Given the description of an element on the screen output the (x, y) to click on. 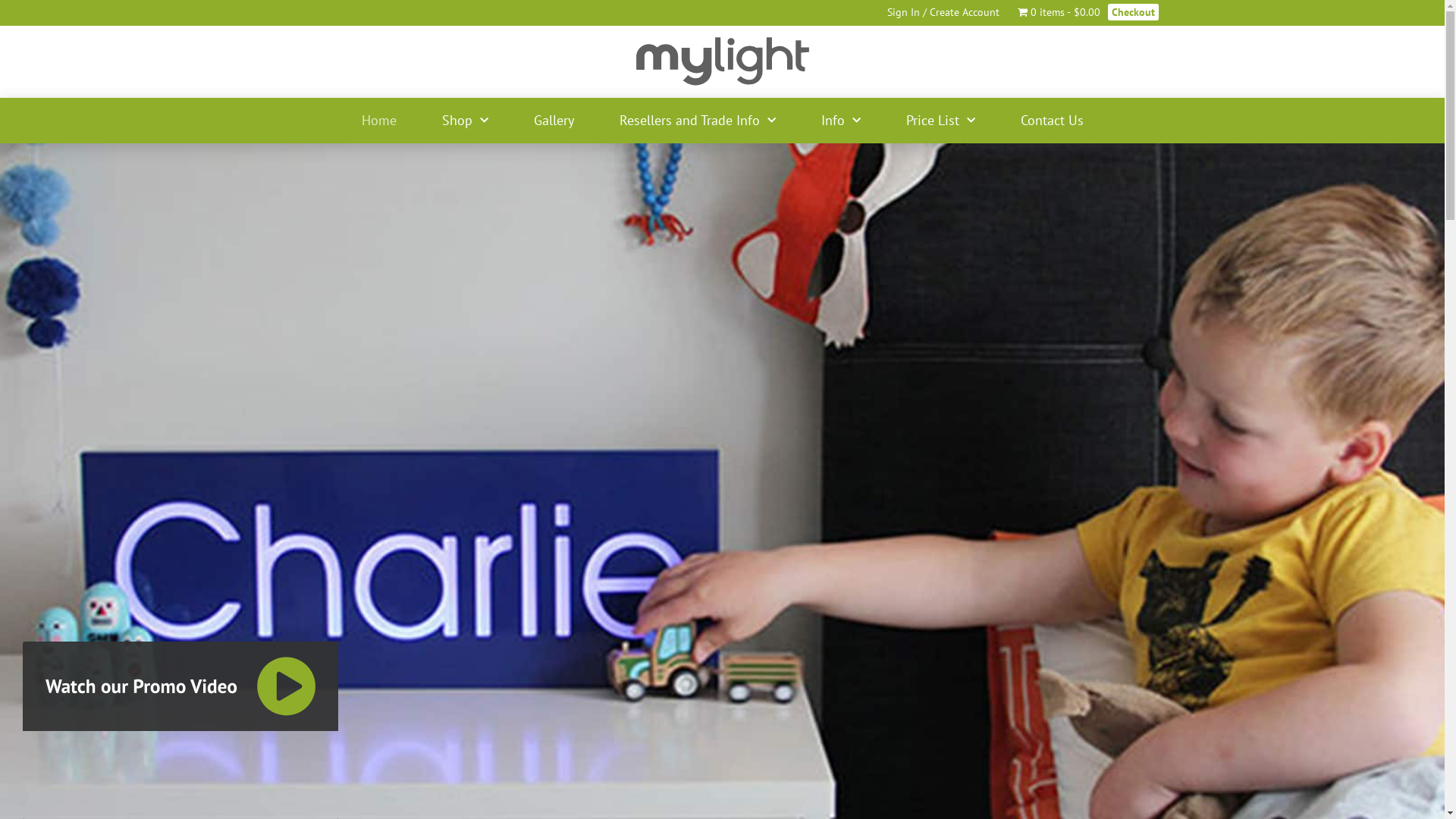
Gallery Element type: text (553, 120)
Price List Element type: text (939, 120)
Contact Us Element type: text (1051, 120)
Sign In / Create Account Element type: text (943, 11)
Resellers and Trade Info Element type: text (696, 120)
Checkout Element type: text (1132, 11)
Shop Element type: text (464, 120)
Home Element type: text (378, 120)
0 items$0.00 Element type: text (1058, 11)
Info Element type: text (839, 120)
